Given the description of an element on the screen output the (x, y) to click on. 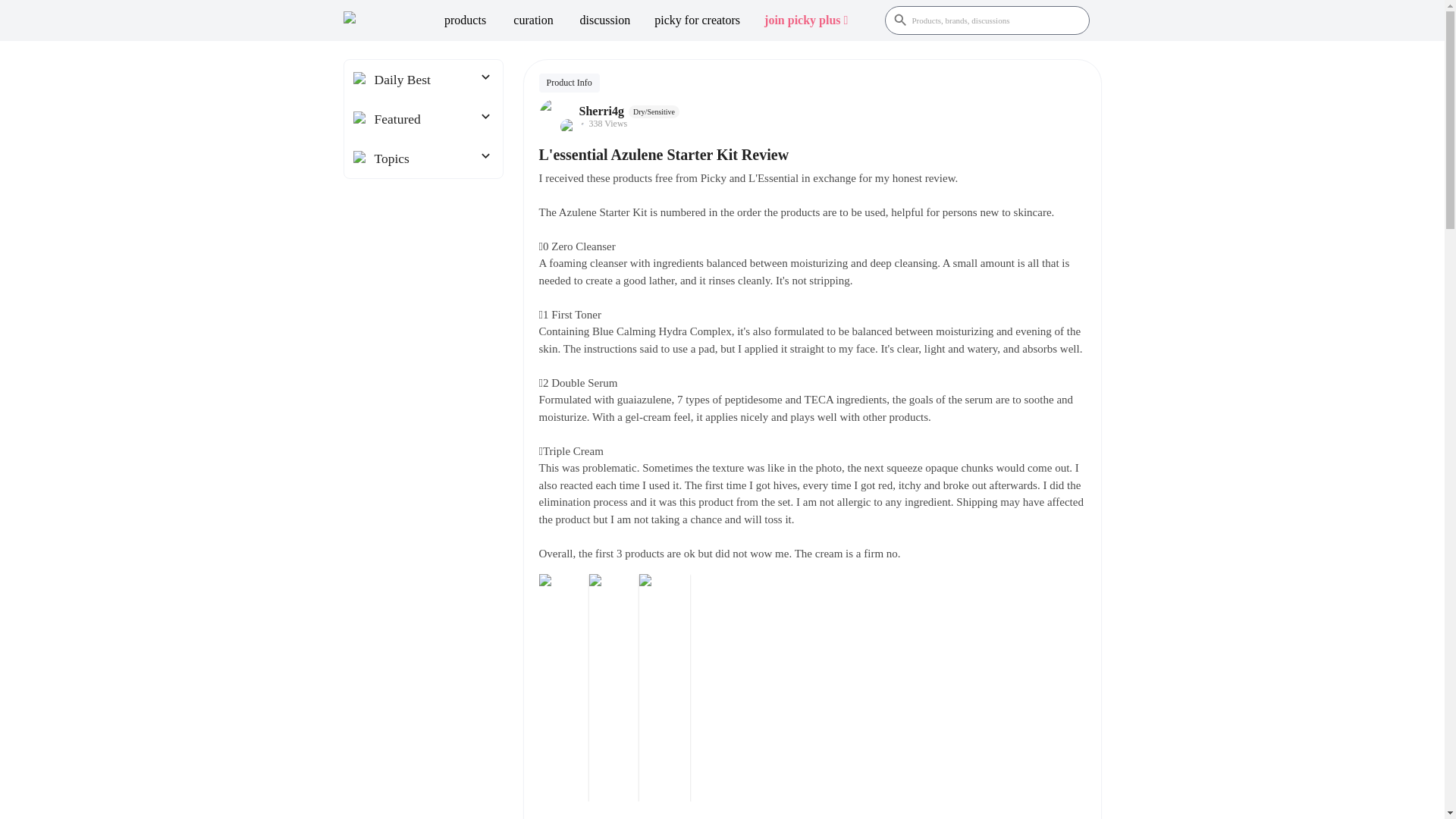
curation (533, 20)
discussion (605, 20)
products (464, 20)
picky for creators (697, 20)
